Given the description of an element on the screen output the (x, y) to click on. 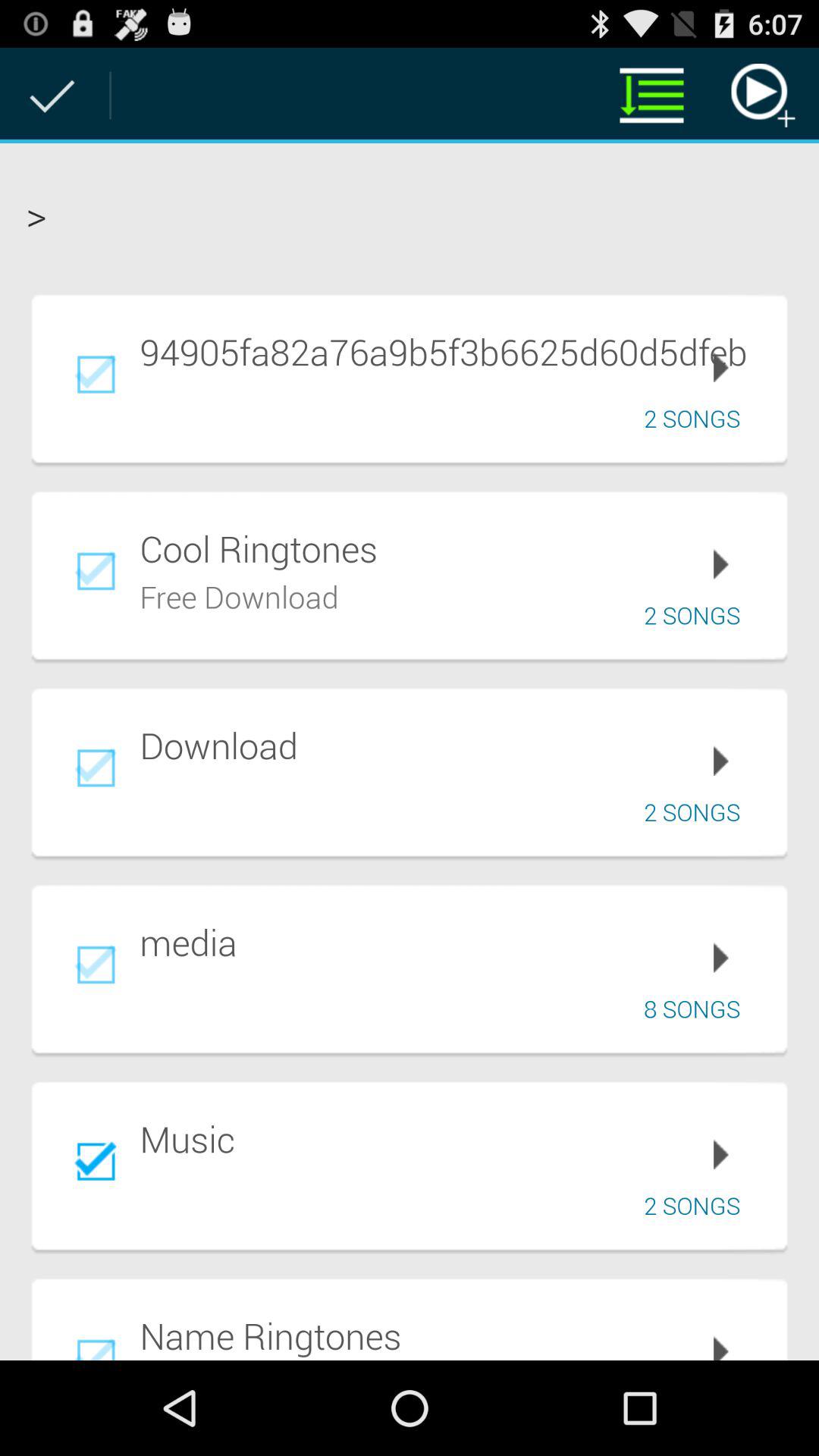
swipe to 8 songs app (696, 1008)
